Given the description of an element on the screen output the (x, y) to click on. 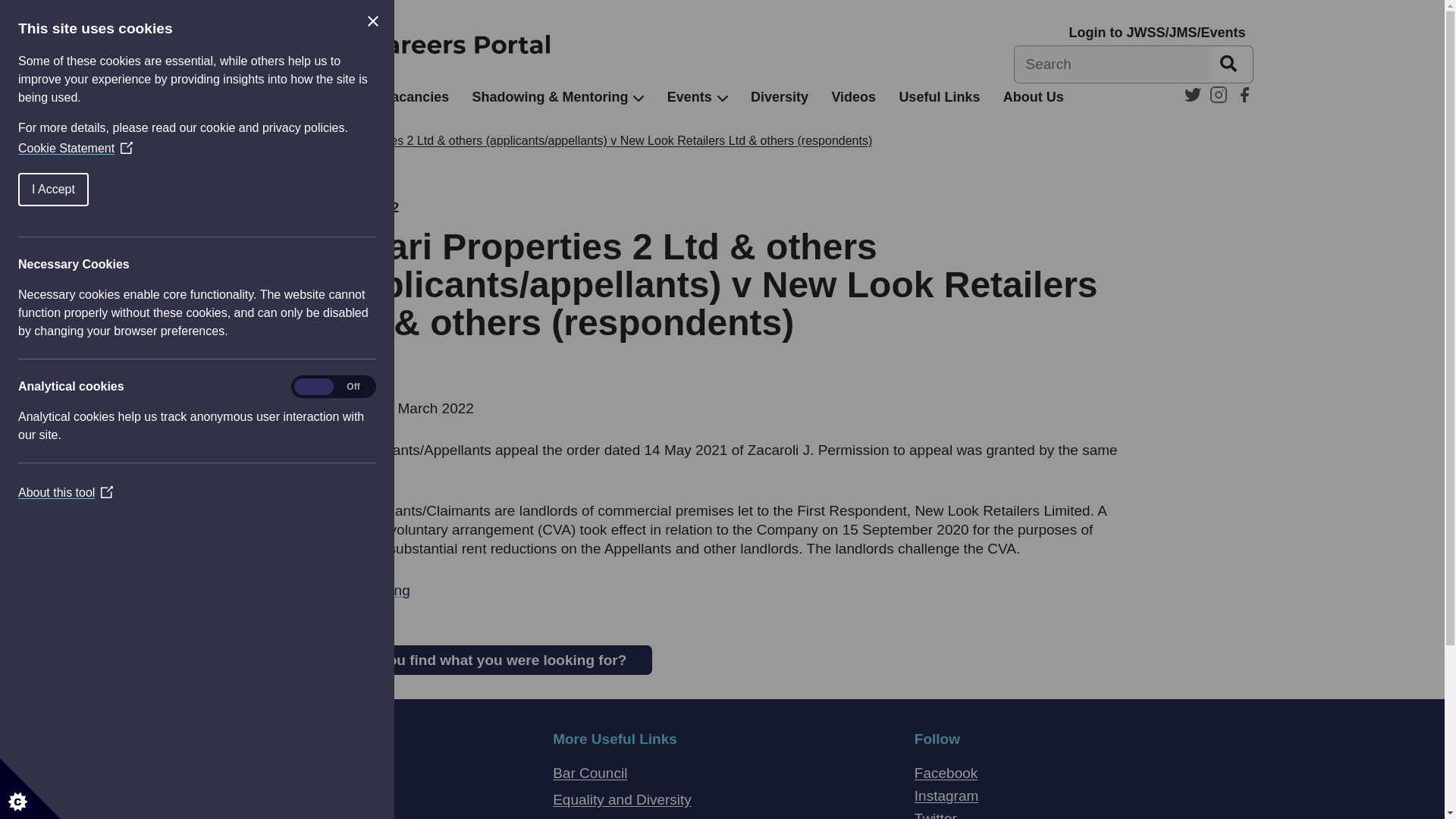
Diversity (779, 97)
Home (209, 97)
Events (688, 97)
Videos (853, 97)
Judicial Roles (297, 97)
Useful Links (938, 97)
Vacancies (415, 97)
About Us (1033, 97)
Skip to main content (11, 7)
